Given the description of an element on the screen output the (x, y) to click on. 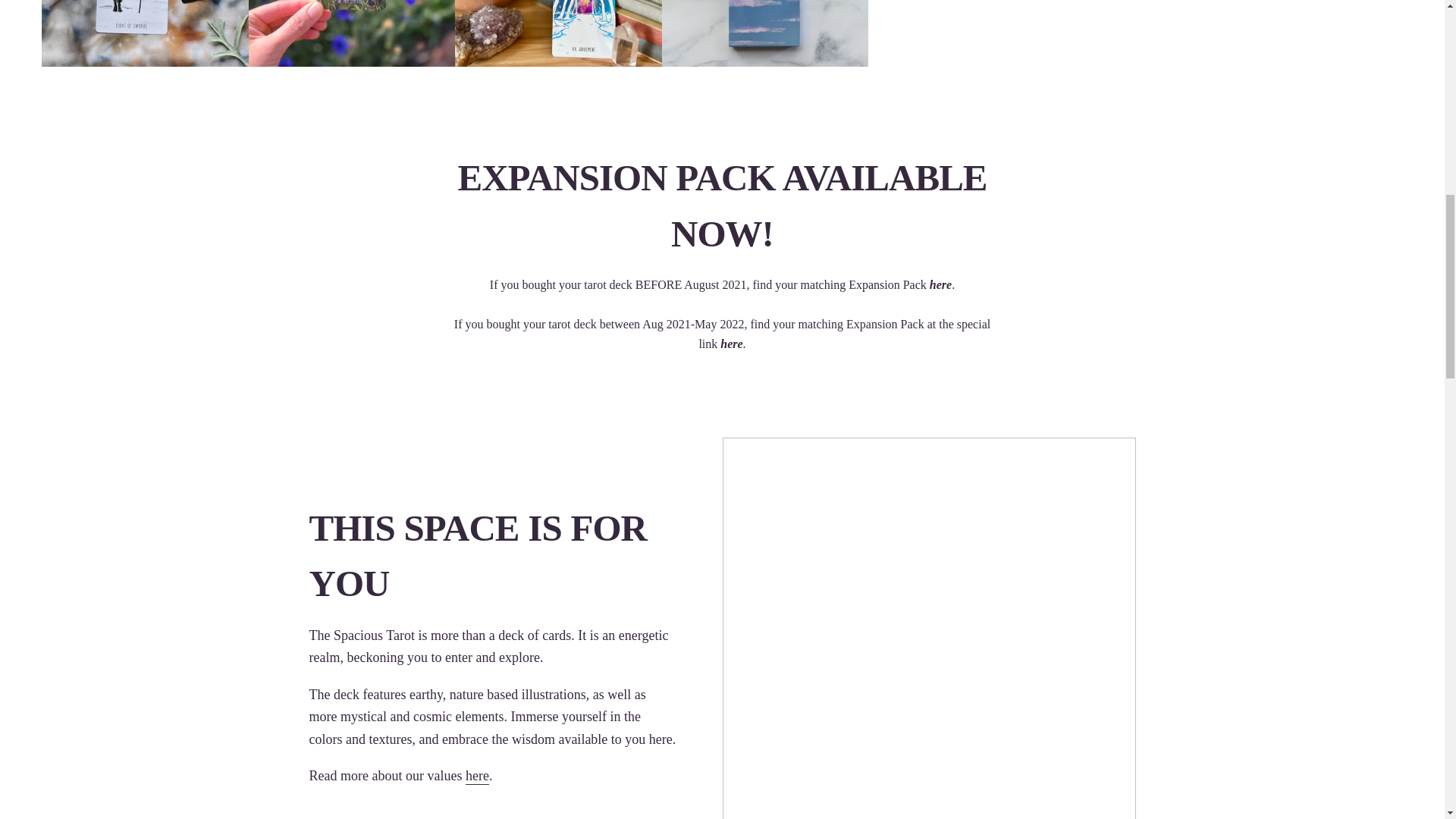
here (731, 343)
here (941, 284)
here (477, 776)
